Given the description of an element on the screen output the (x, y) to click on. 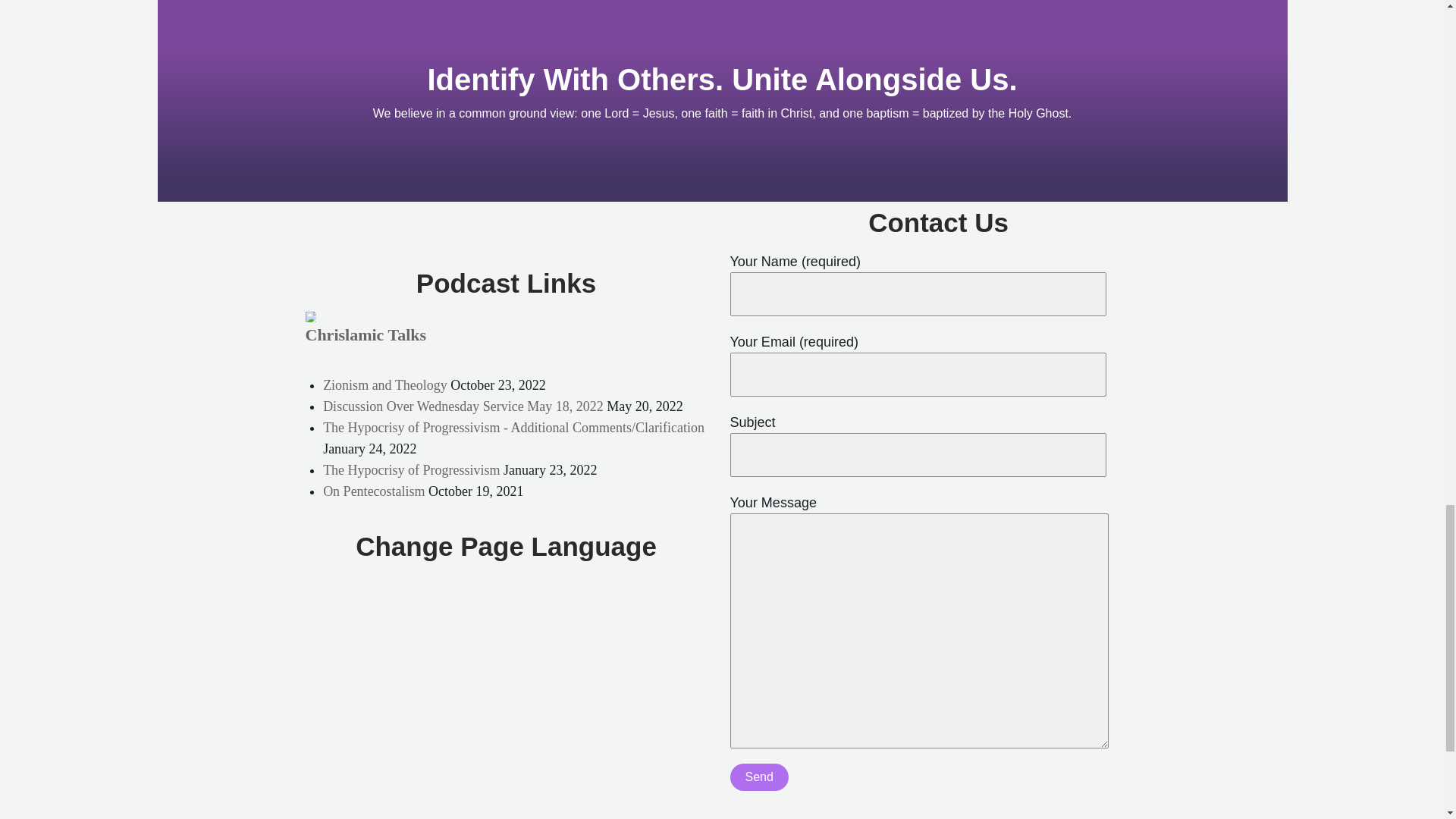
French (480, 591)
Indonesian (496, 591)
Portuguese (511, 591)
On Pentecostalism (374, 491)
Chrislamic Talks (365, 334)
Arabic (451, 591)
Discussion Over Wednesday Service May 18, 2022 (463, 406)
The Hypocrisy of Progressivism (411, 469)
English (466, 591)
Zionism and Theology (384, 385)
